Given the description of an element on the screen output the (x, y) to click on. 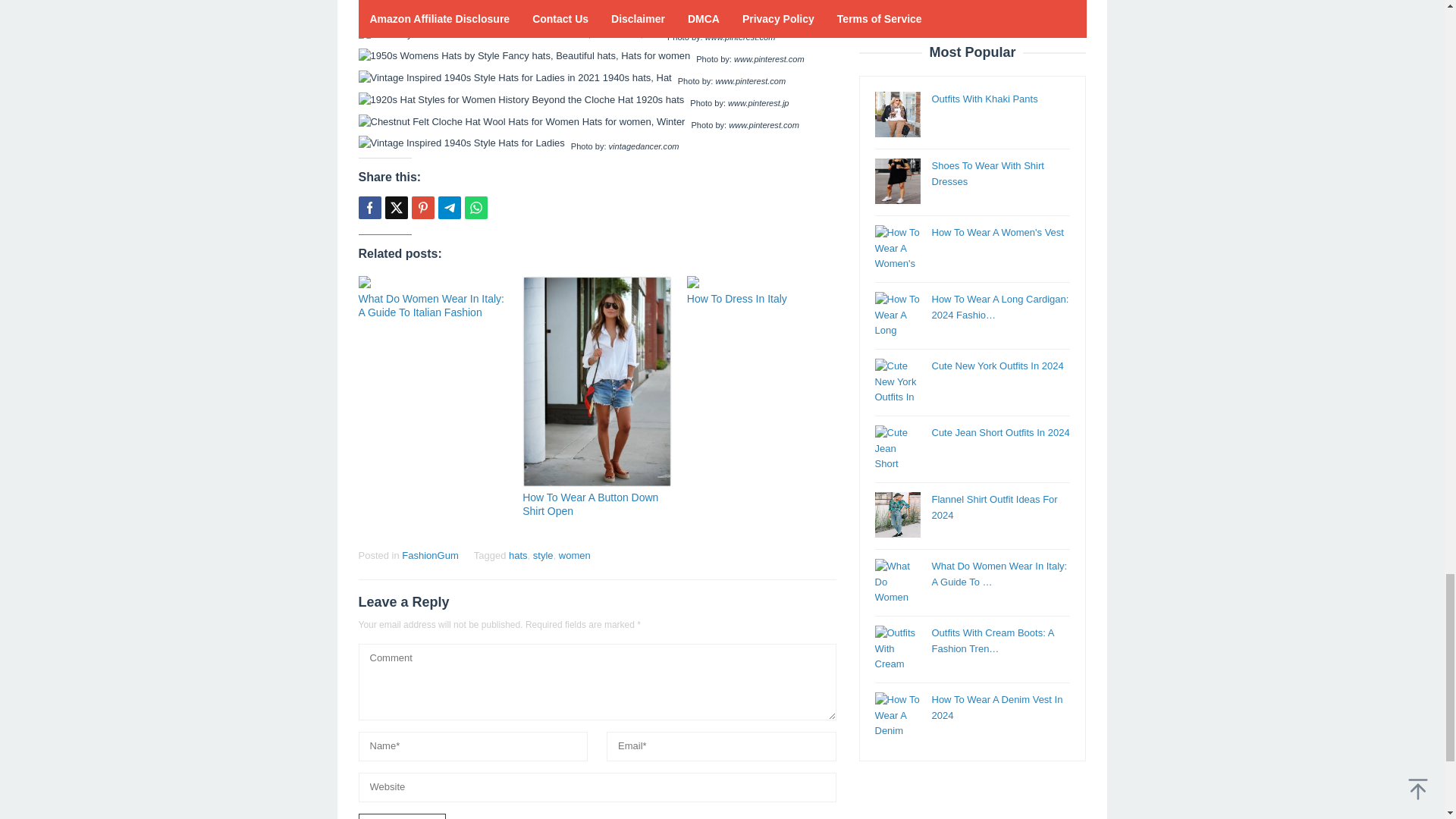
Post Comment (401, 816)
hats (517, 555)
Pin this (421, 207)
Whatsapp (475, 207)
Telegram Share (449, 207)
What Do Women Wear In Italy: A Guide To Italian Fashion (430, 305)
Tweet this (396, 207)
How To Wear A Button Down Shirt Open (590, 503)
Share this (369, 207)
Permalink to: How To Dress In Italy (761, 282)
women (575, 555)
Permalink to: How To Wear A Button Down Shirt Open (590, 503)
Permalink to: How To Dress In Italy (737, 298)
Post Comment (401, 816)
style (542, 555)
